Given the description of an element on the screen output the (x, y) to click on. 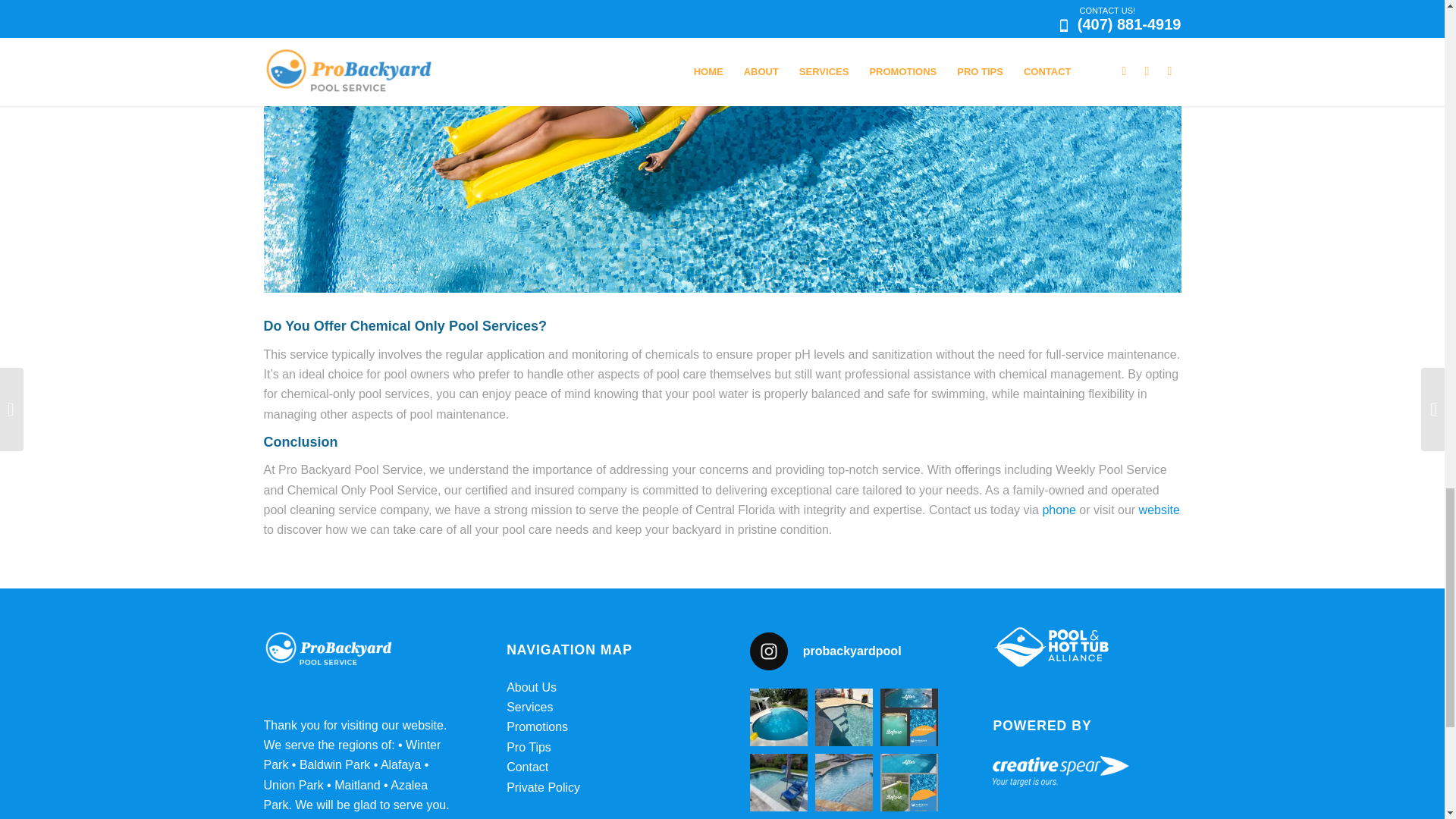
Pro Tips (528, 747)
Promotions (536, 726)
Private Policy (542, 787)
probackyardpool (843, 651)
Contact (527, 766)
Services (529, 707)
website (1158, 509)
About Us (531, 686)
phone (1058, 509)
